Given the description of an element on the screen output the (x, y) to click on. 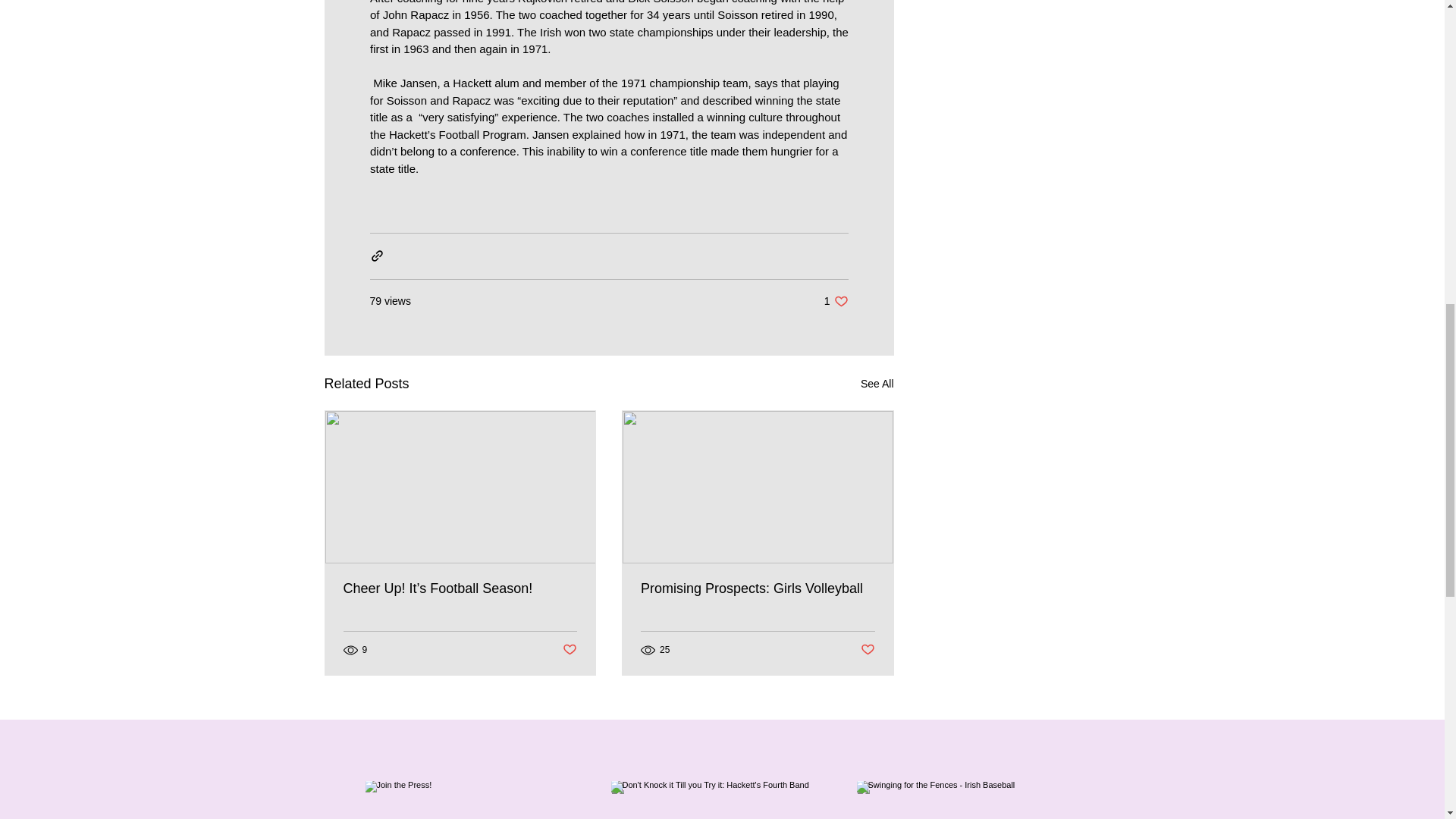
Promising Prospects: Girls Volleyball (757, 588)
See All (876, 383)
Post not marked as liked (836, 301)
Post not marked as liked (569, 650)
